Given the description of an element on the screen output the (x, y) to click on. 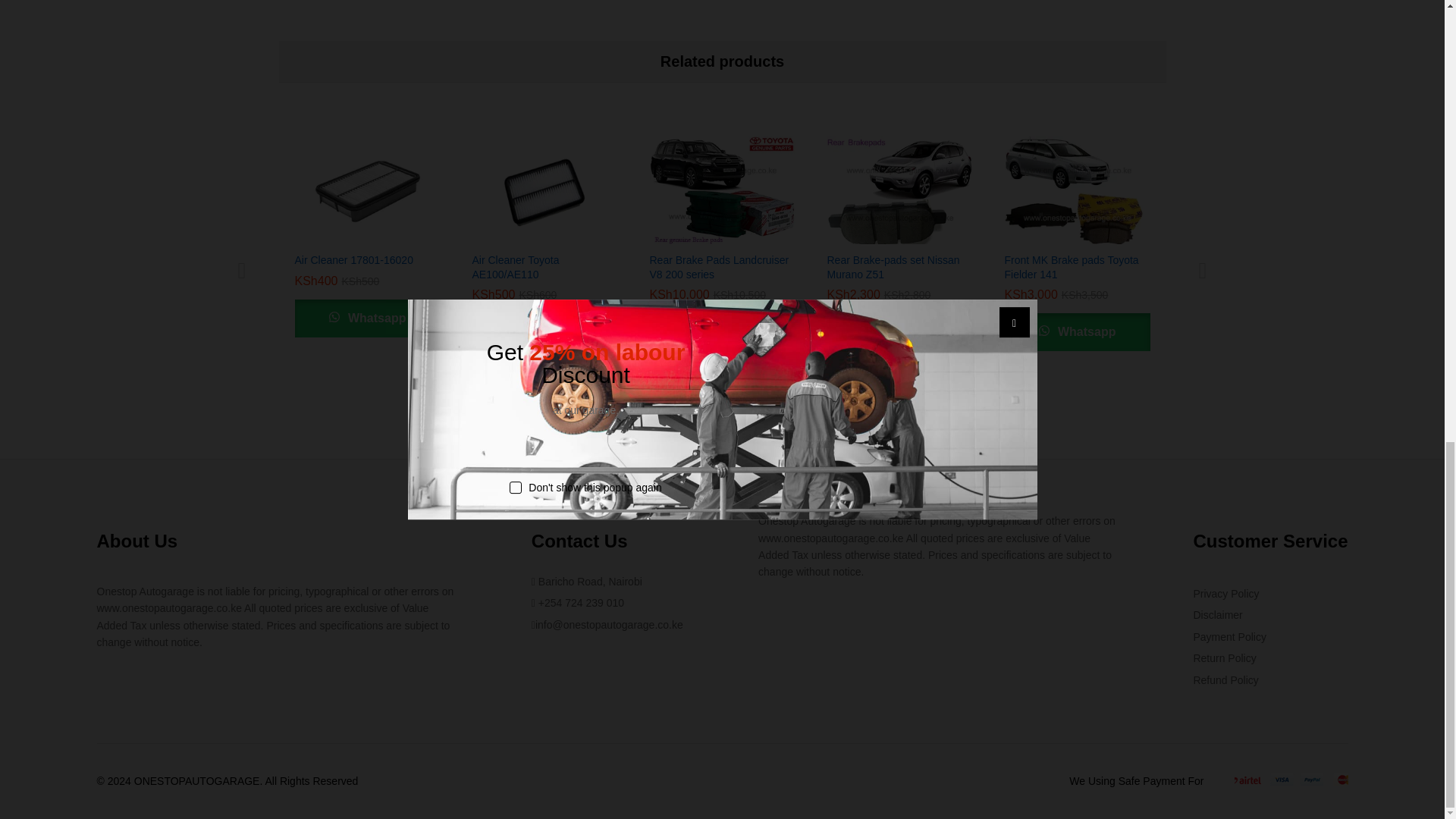
Complete order on WhatsApp to buy Air Cleaner 17801-16020 (366, 318)
